Given the description of an element on the screen output the (x, y) to click on. 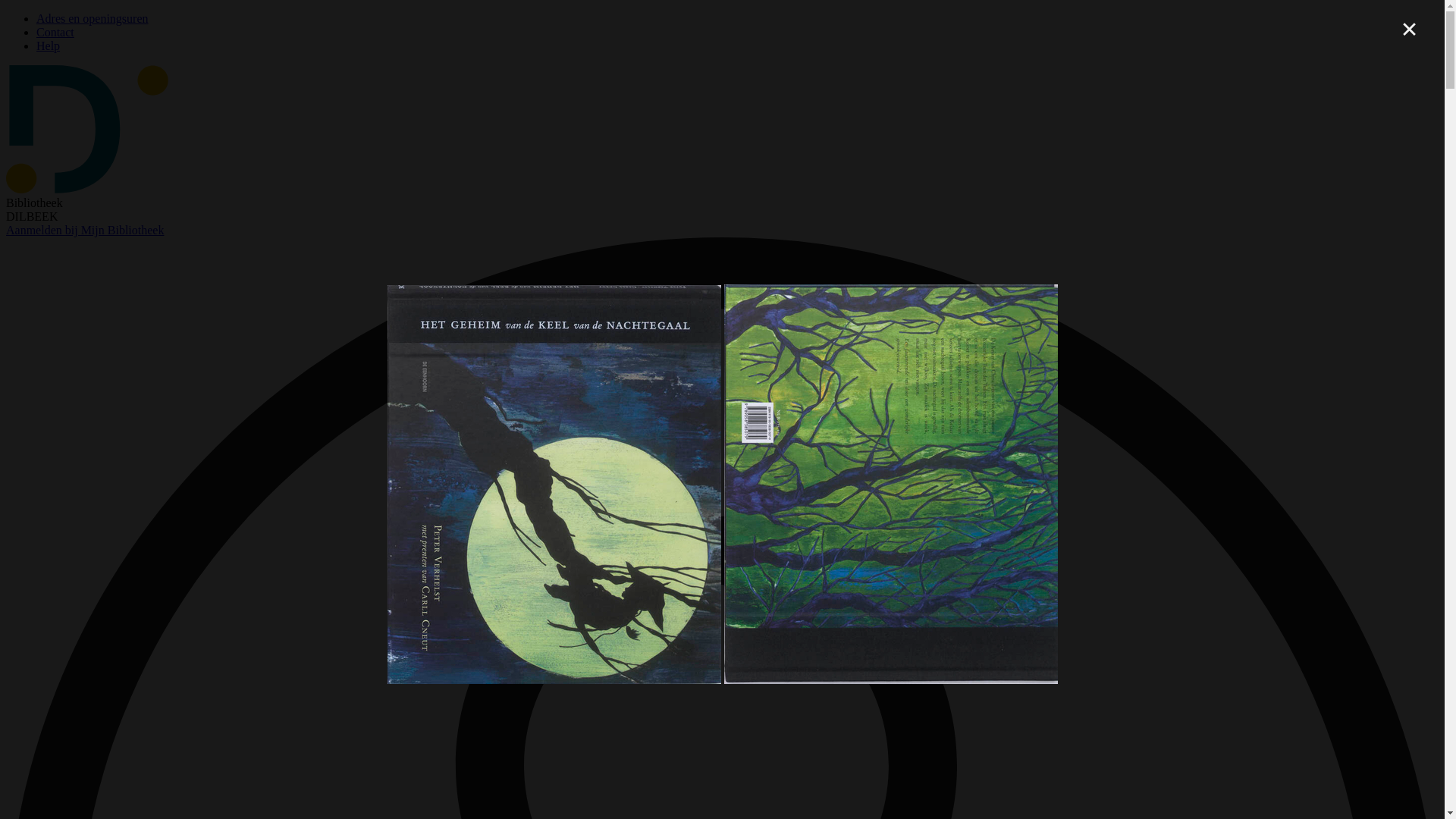
Aanmelden bij Mijn Bibliotheek Element type: text (84, 229)
Contact Element type: text (55, 31)
Home Element type: hover (87, 188)
Help Element type: text (47, 45)
Adres en openingsuren Element type: text (92, 18)
Overslaan en naar zoeken gaan Element type: text (6, 12)
